Given the description of an element on the screen output the (x, y) to click on. 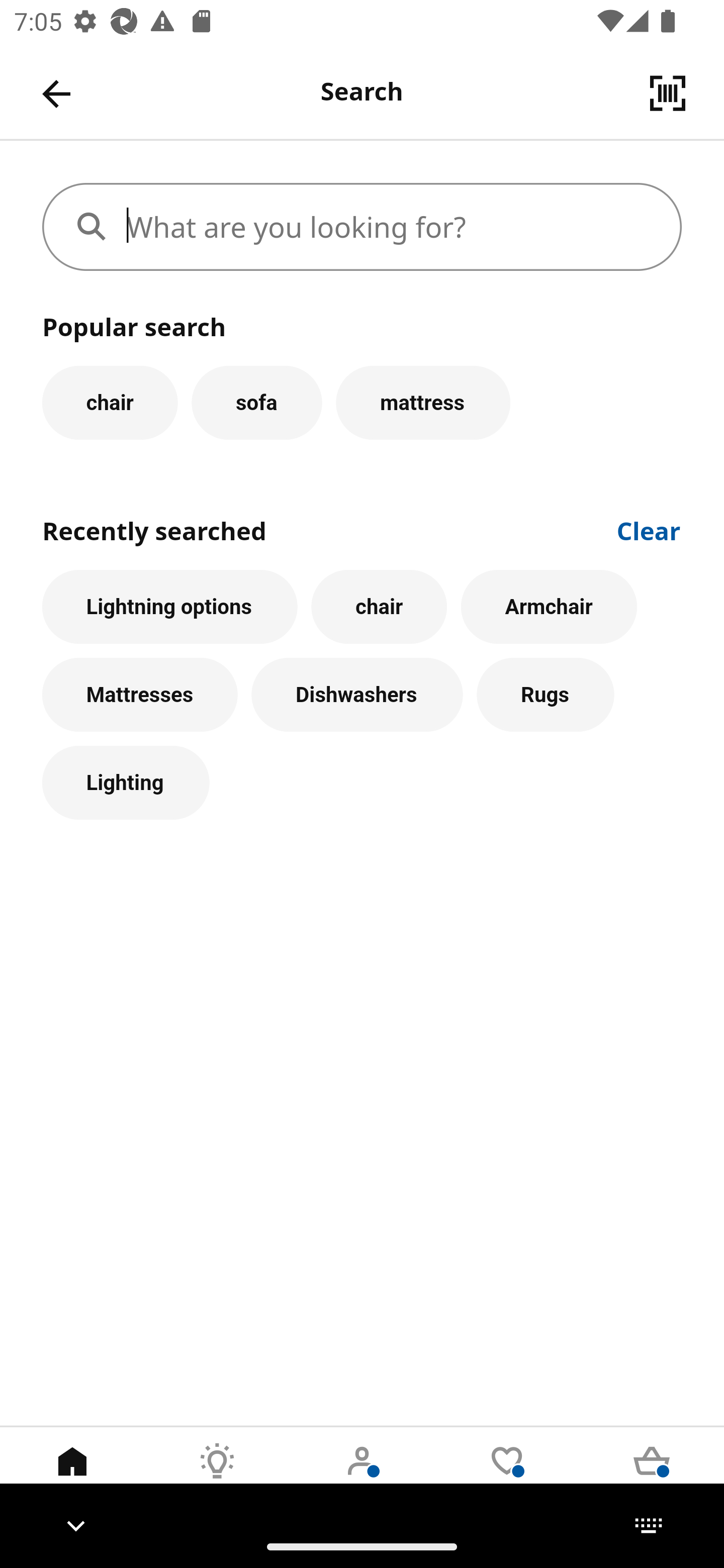
chair (109, 402)
sofa (256, 402)
mattress (423, 402)
Clear (649, 528)
Lightning options (169, 606)
chair (379, 606)
Armchair (549, 606)
Mattresses (139, 695)
Dishwashers (357, 695)
Rugs (545, 695)
Lighting (125, 783)
Home
Tab 1 of 5 (72, 1476)
Inspirations
Tab 2 of 5 (216, 1476)
User
Tab 3 of 5 (361, 1476)
Wishlist
Tab 4 of 5 (506, 1476)
Cart
Tab 5 of 5 (651, 1476)
